Given the description of an element on the screen output the (x, y) to click on. 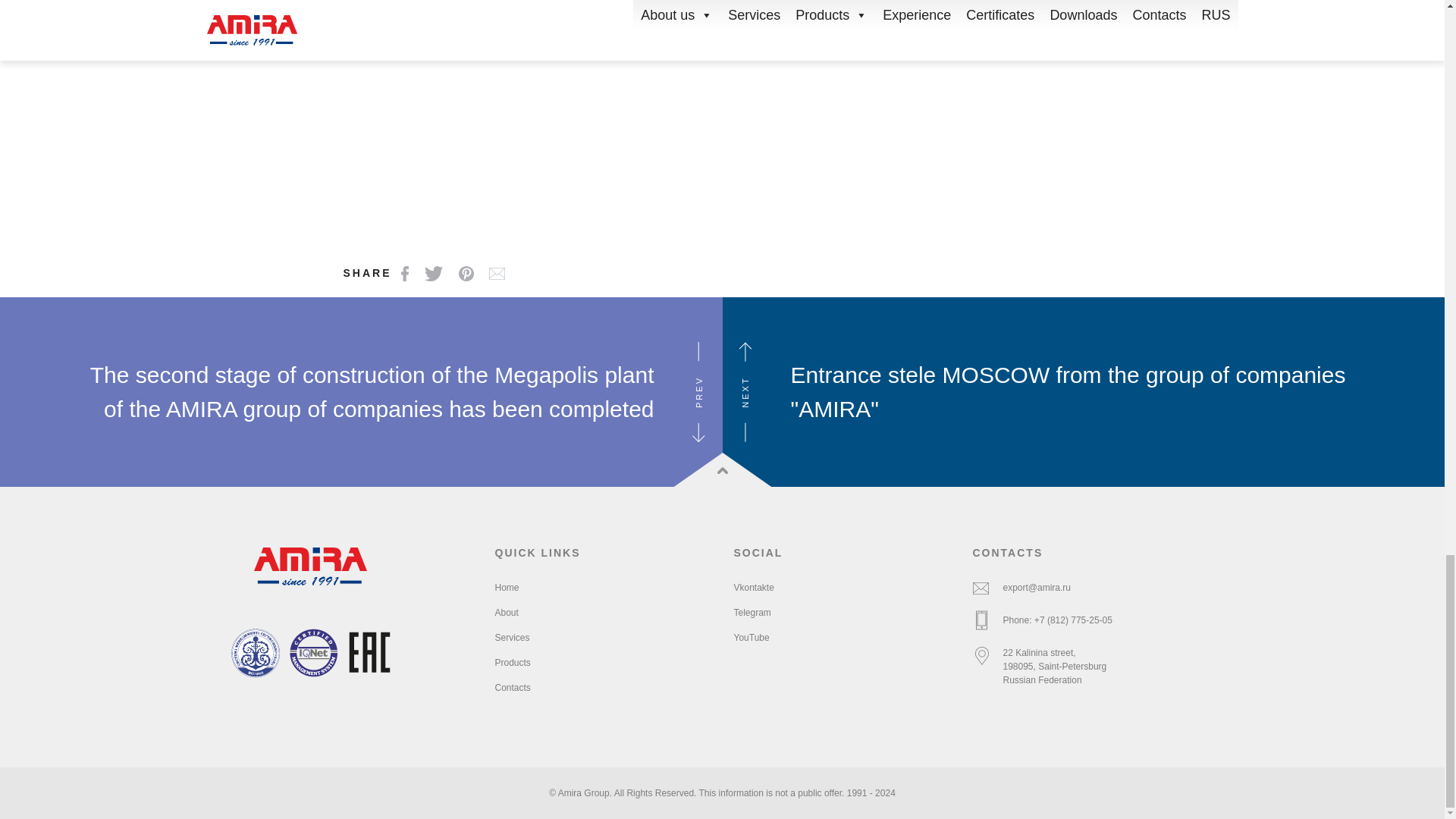
Home (506, 587)
Services (512, 637)
About (506, 612)
Amira Group (310, 566)
Products (512, 662)
